Given the description of an element on the screen output the (x, y) to click on. 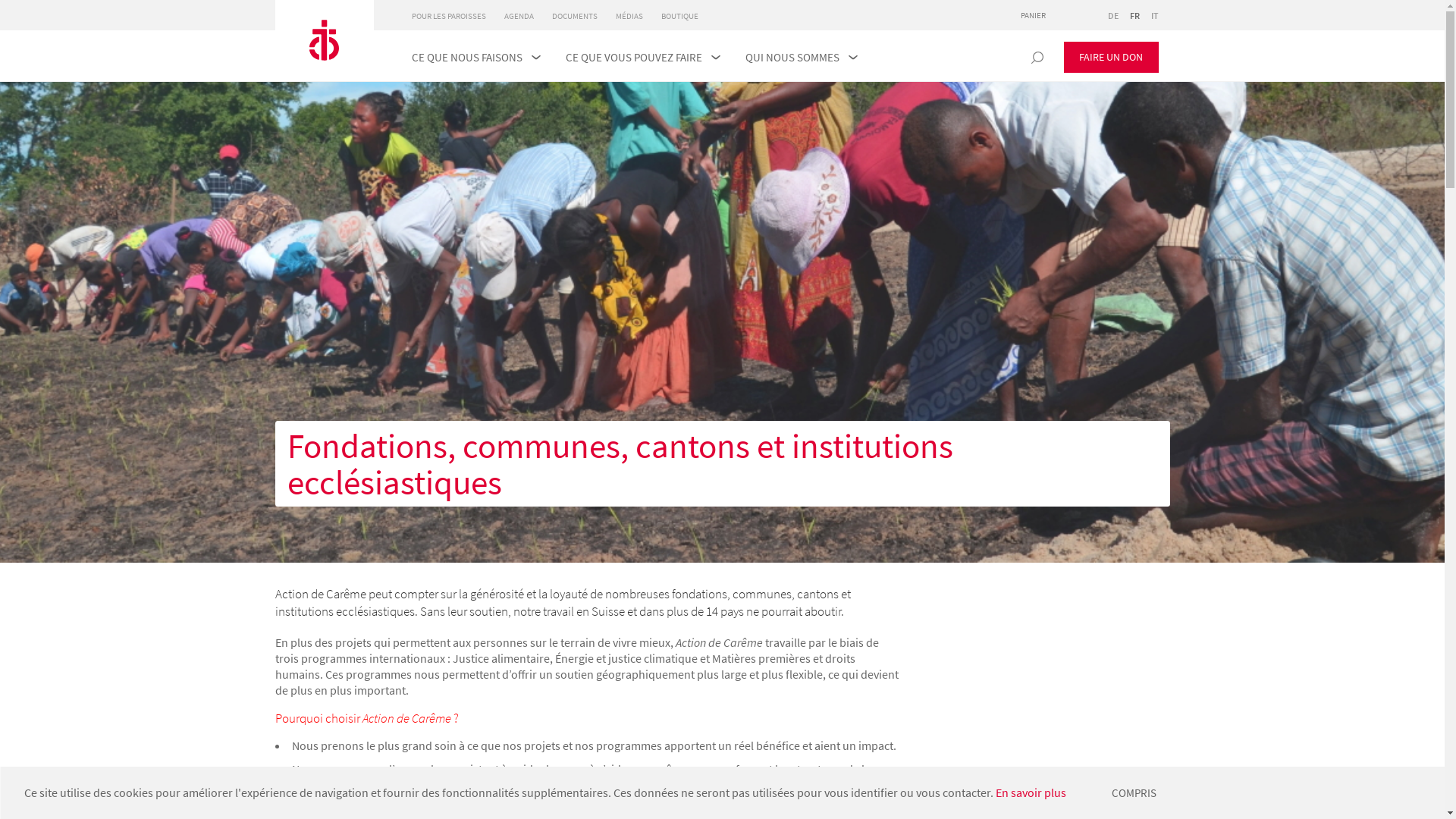
CE QUE NOUS FAISONS Element type: text (466, 57)
CE QUE VOUS POUVEZ FAIRE Element type: text (633, 57)
PANIER Element type: text (1038, 14)
QUI NOUS SOMMES Element type: text (791, 57)
En savoir plus Element type: text (1030, 792)
BOUTIQUE Element type: text (679, 15)
POUR LES PAROISSES Element type: text (448, 15)
FAIRE UN DON Element type: text (1110, 56)
DE Element type: text (1112, 15)
DOCUMENTS Element type: text (574, 15)
AGENDA Element type: text (518, 15)
IT Element type: text (1154, 15)
COMPRIS Element type: text (1133, 792)
